Given the description of an element on the screen output the (x, y) to click on. 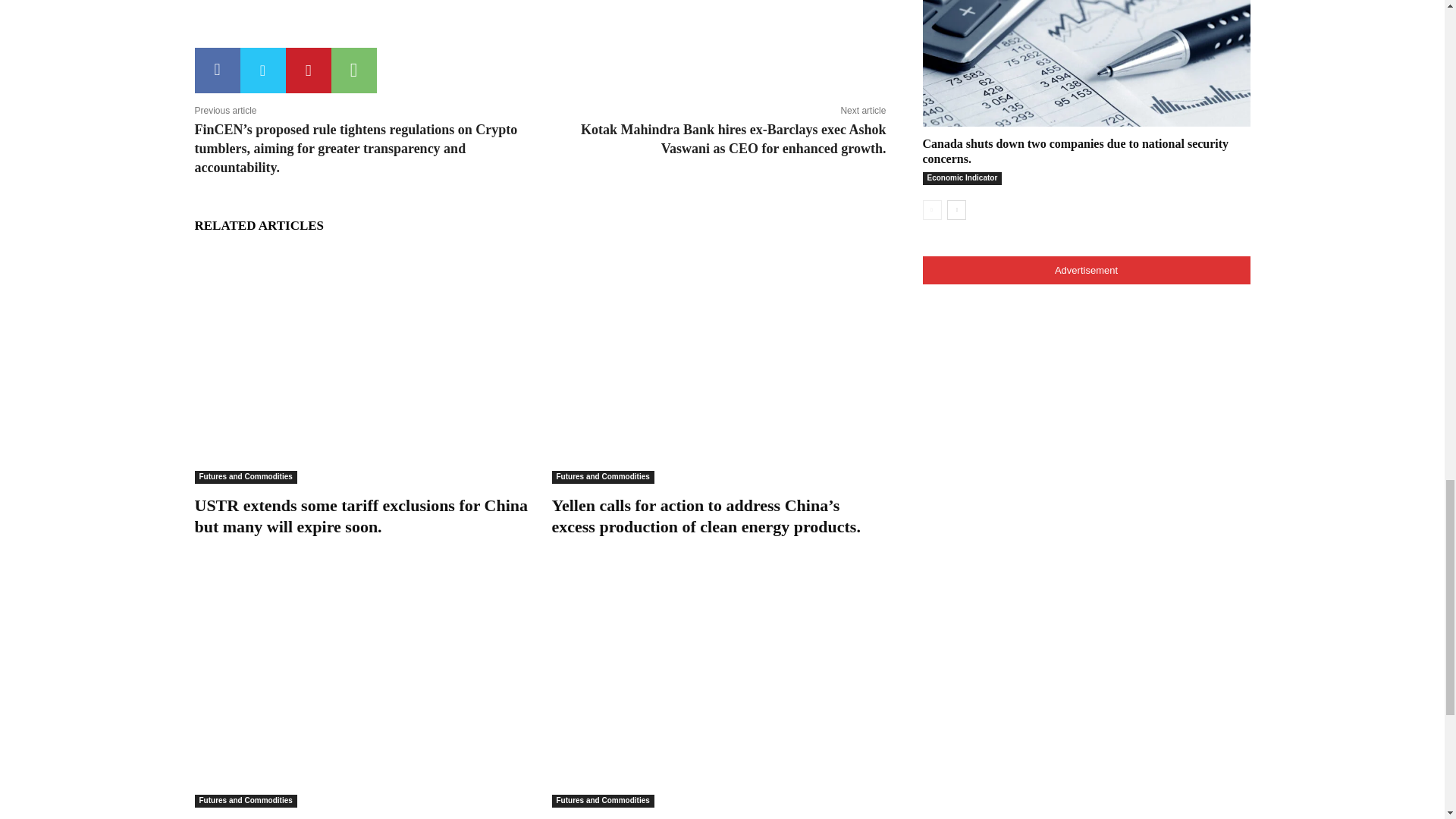
Twitter (262, 70)
Pinterest (307, 70)
WhatsApp (352, 70)
Facebook (216, 70)
